Given the description of an element on the screen output the (x, y) to click on. 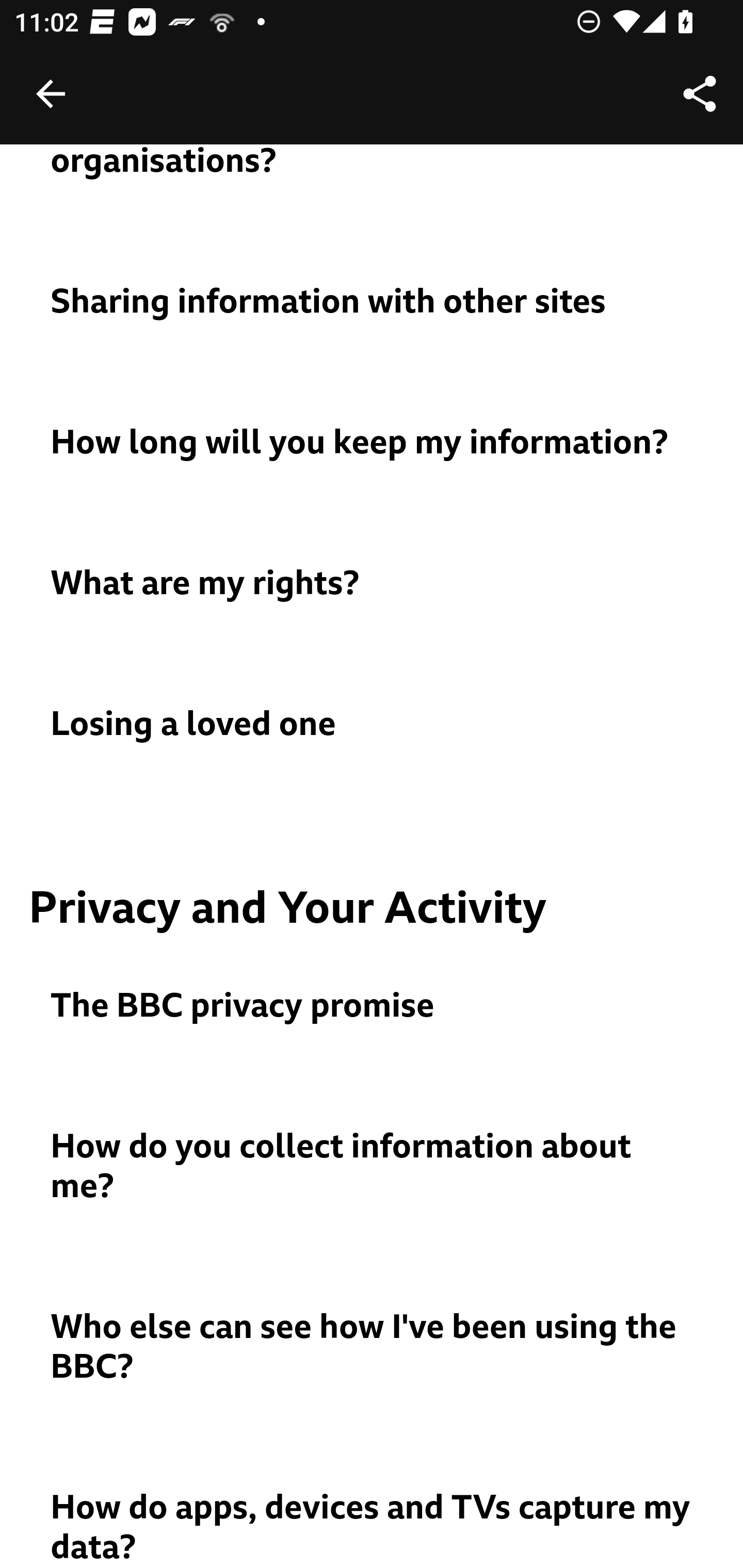
Back (50, 93)
Share (699, 93)
Sharing information with other sites (372, 302)
How long will you keep my information? (372, 442)
What are my rights? (372, 583)
Losing a loved one (372, 724)
The BBC privacy promise (372, 1006)
How do you collect information about me? (372, 1166)
Who else can see how I've been using the BBC? (372, 1347)
How do apps, devices and TVs capture my data? (372, 1528)
